Given the description of an element on the screen output the (x, y) to click on. 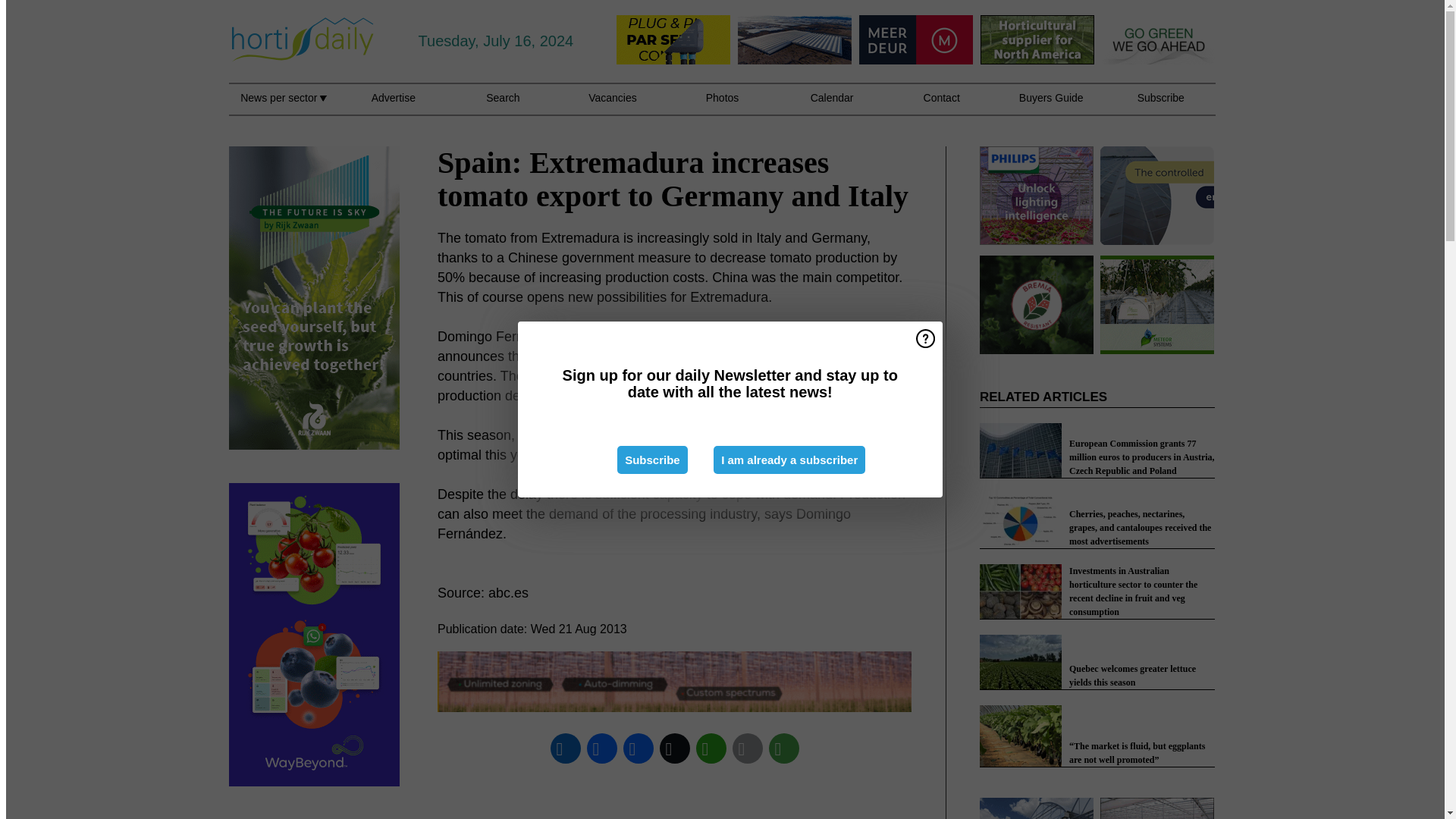
WhatsApp (711, 748)
News per sector (283, 106)
Facebook (601, 748)
I am already a subscriber (788, 459)
Facebook Messenger (638, 748)
LinkedIn (565, 748)
Email This (747, 748)
Subscribe (652, 459)
More Options (783, 748)
